Given the description of an element on the screen output the (x, y) to click on. 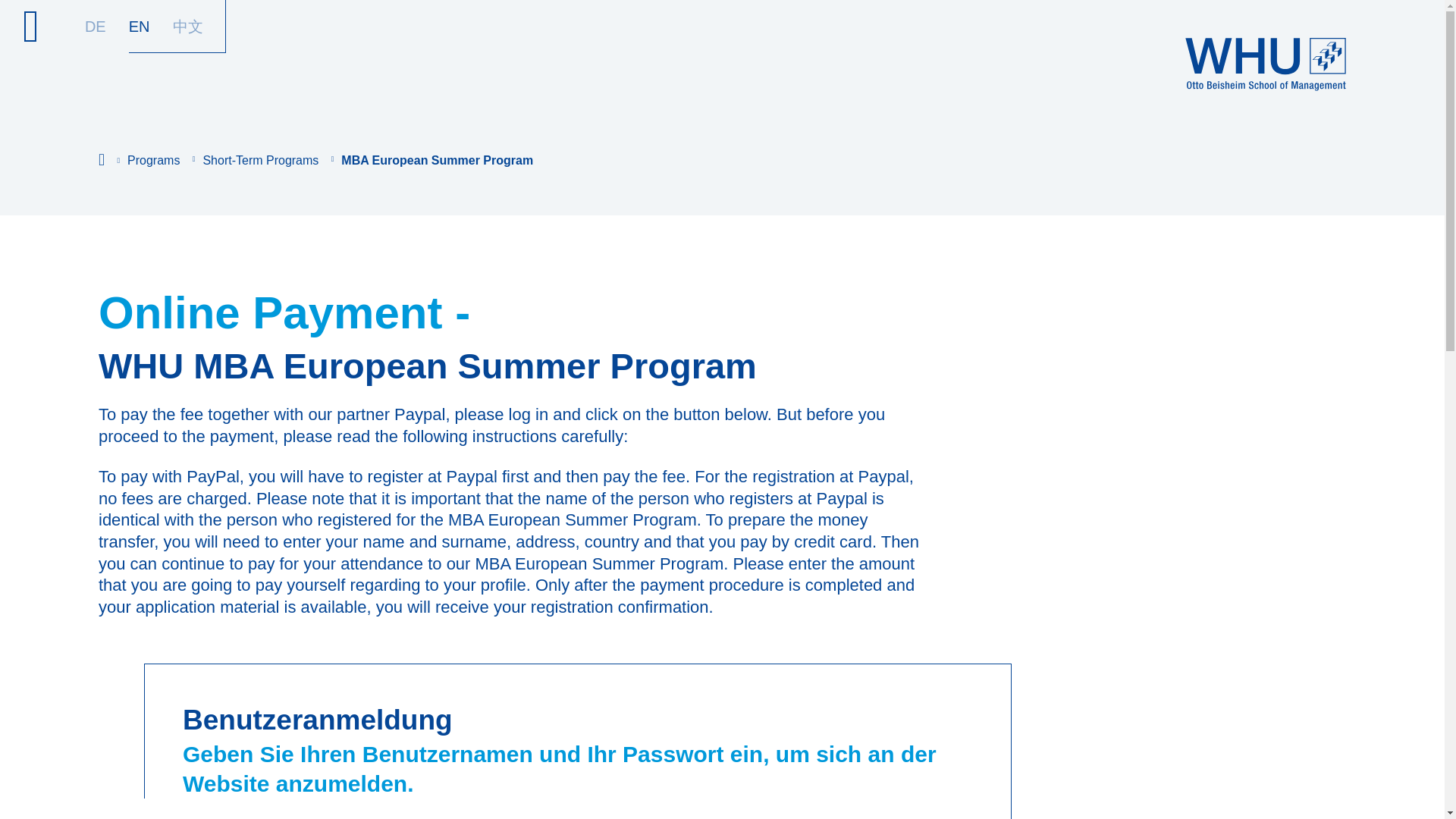
WHU - Startseite (1265, 63)
Chinese (188, 26)
EN (139, 26)
Deutsch (95, 26)
DE (95, 26)
English (139, 26)
